Given the description of an element on the screen output the (x, y) to click on. 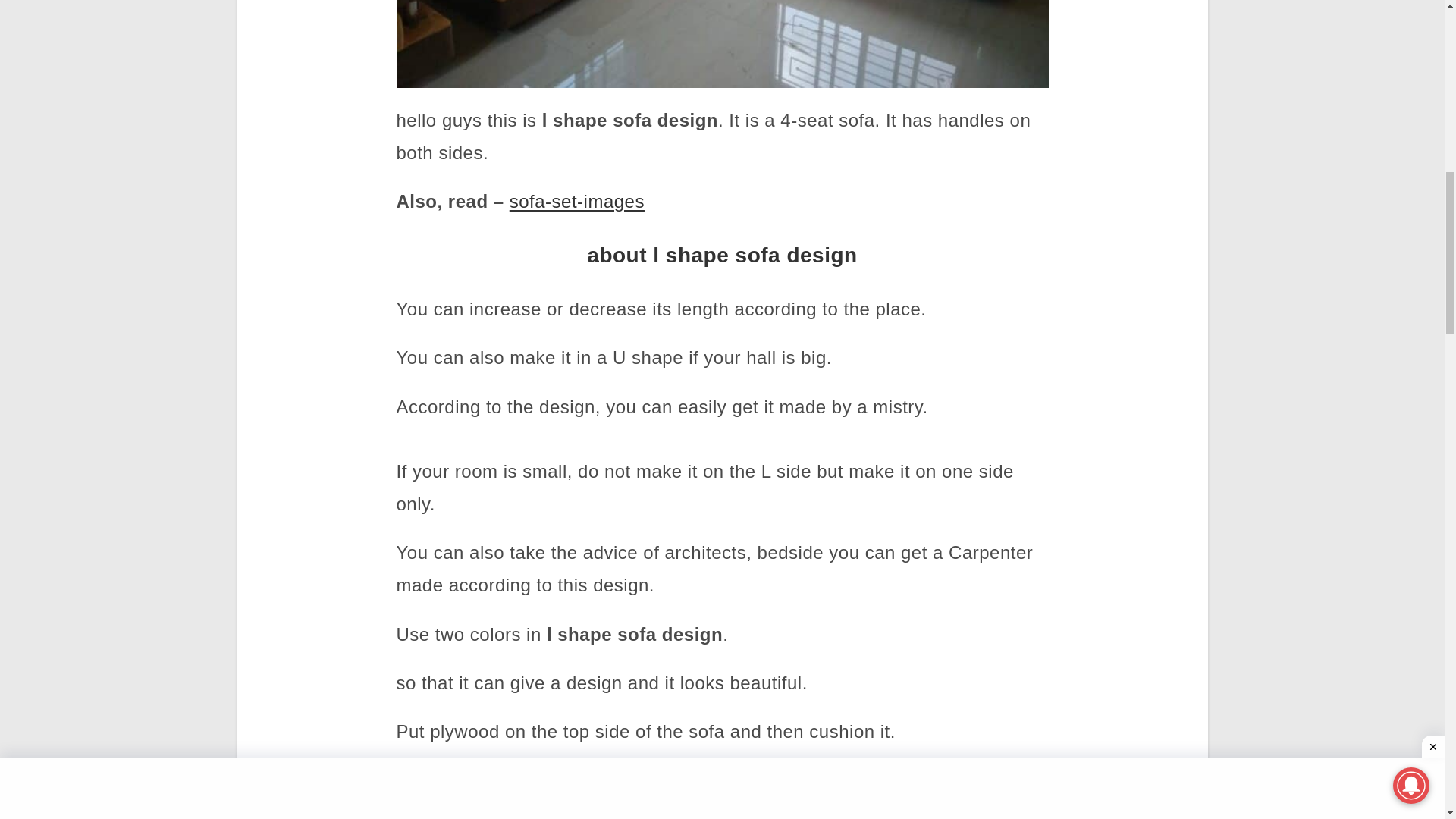
best l shape sofa design (722, 43)
sofa-set-images (577, 200)
